Given the description of an element on the screen output the (x, y) to click on. 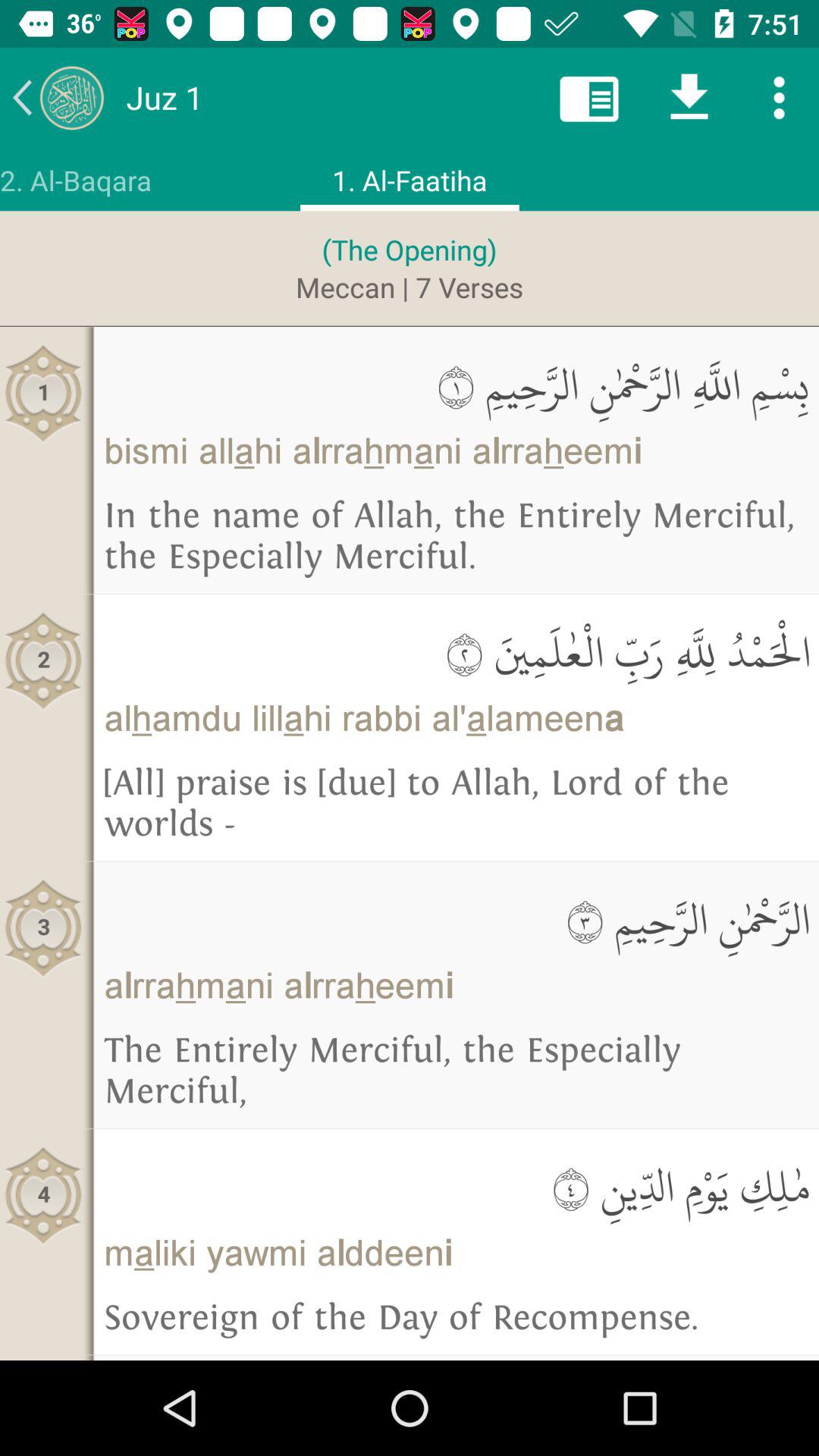
press 4 (43, 1195)
